Given the description of an element on the screen output the (x, y) to click on. 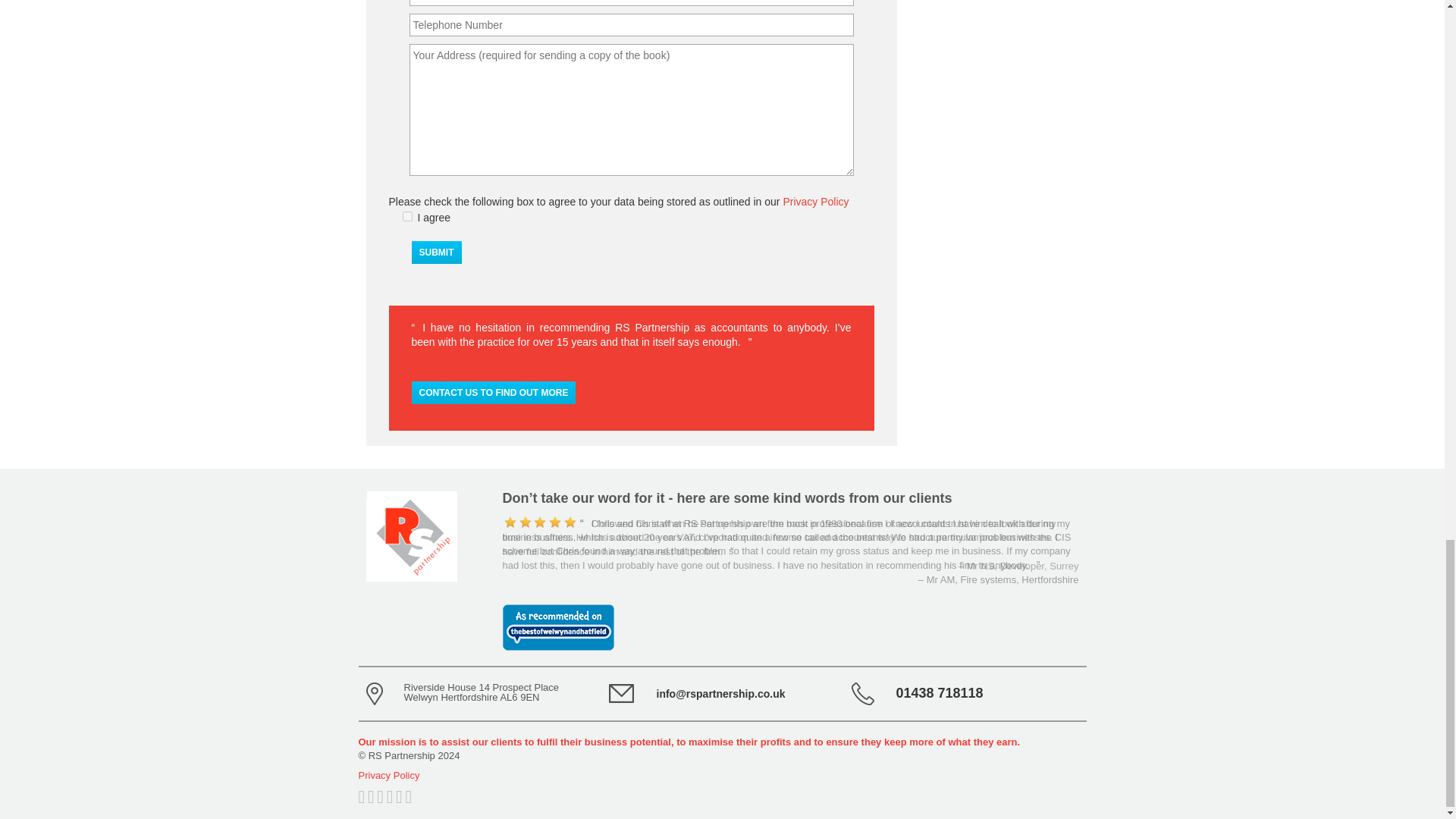
I agree (406, 216)
Privacy Policy (815, 200)
Submit (435, 251)
